Given the description of an element on the screen output the (x, y) to click on. 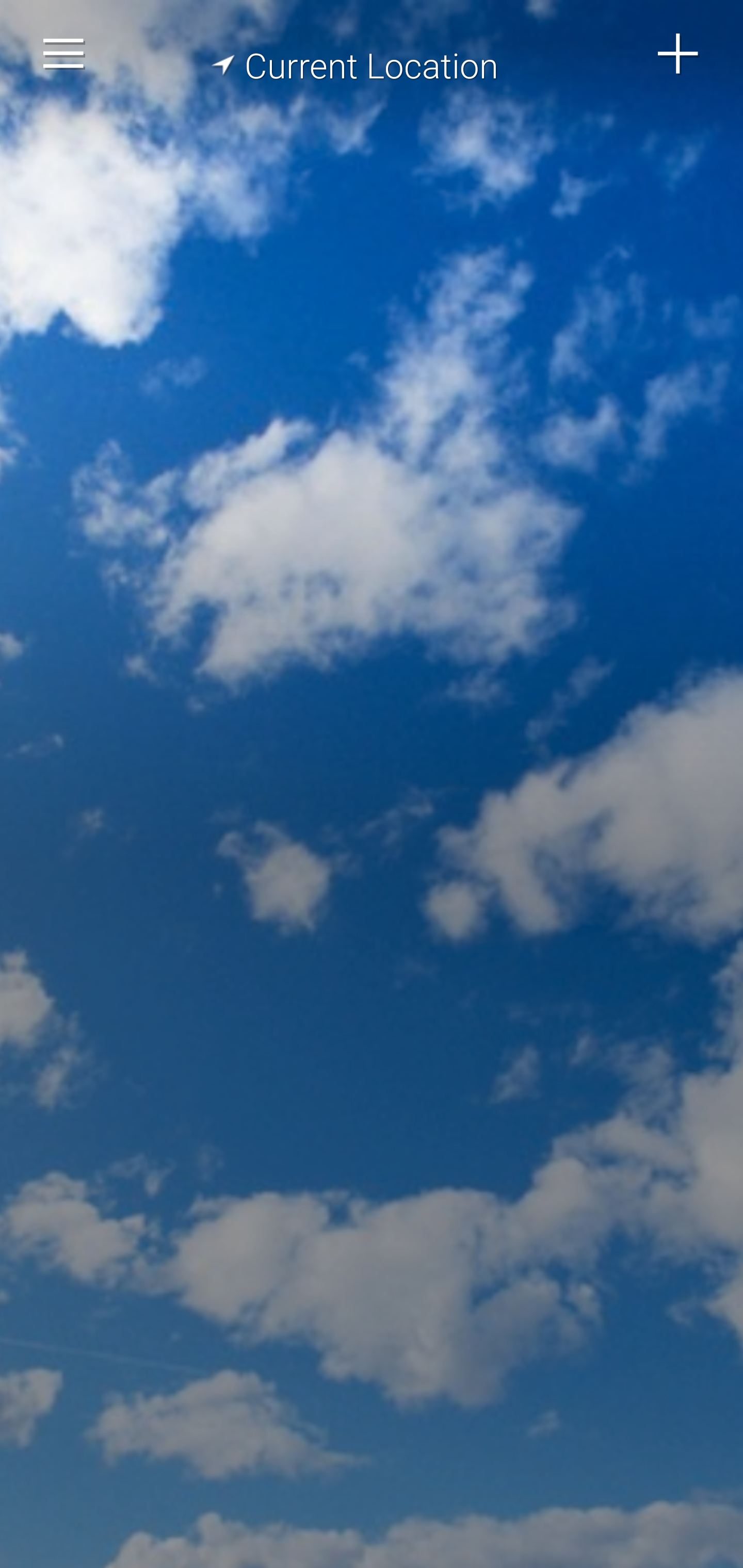
Sidebar (64, 54)
Add City (678, 53)
